Given the description of an element on the screen output the (x, y) to click on. 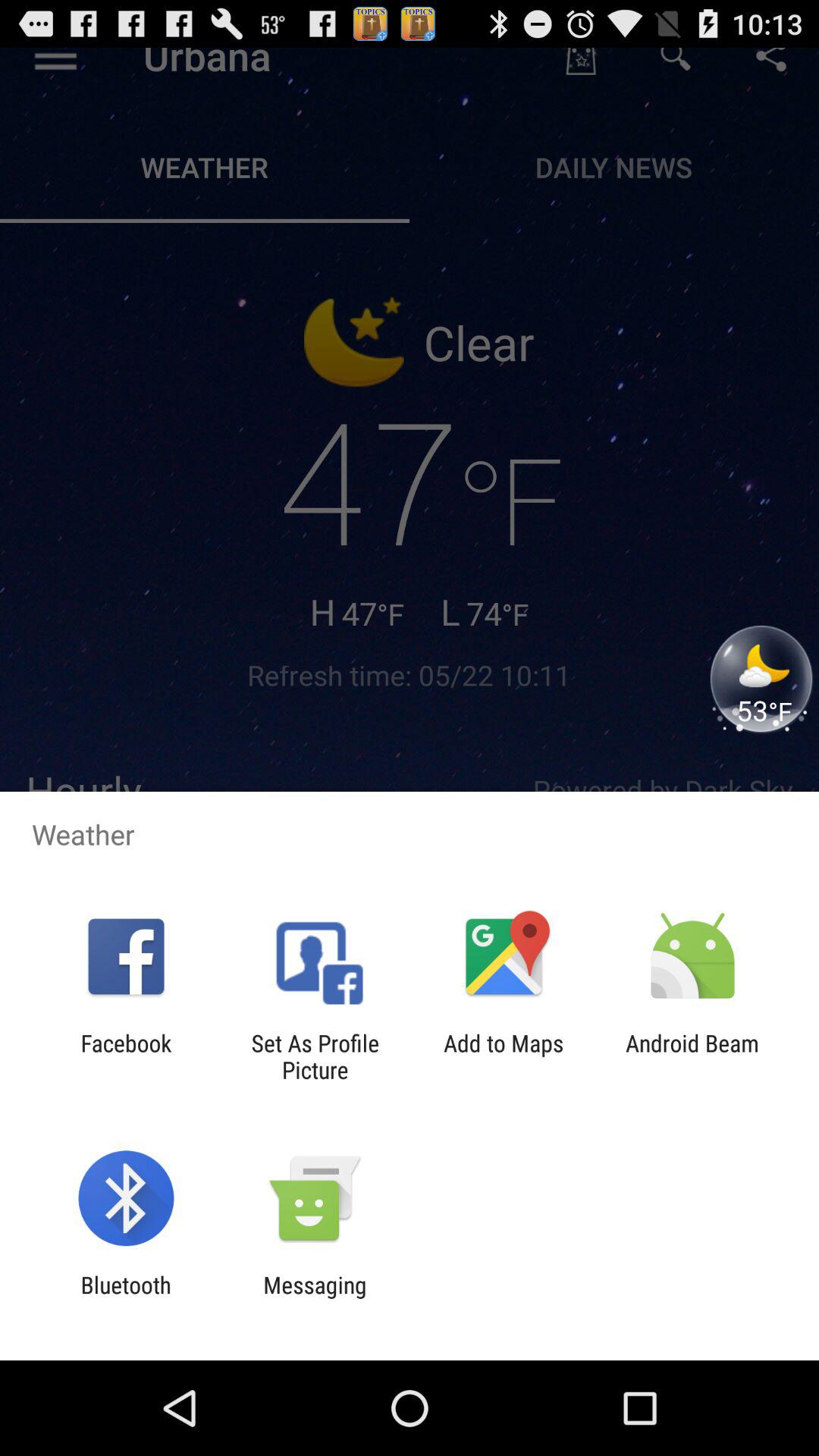
launch icon to the right of the set as profile app (503, 1056)
